Given the description of an element on the screen output the (x, y) to click on. 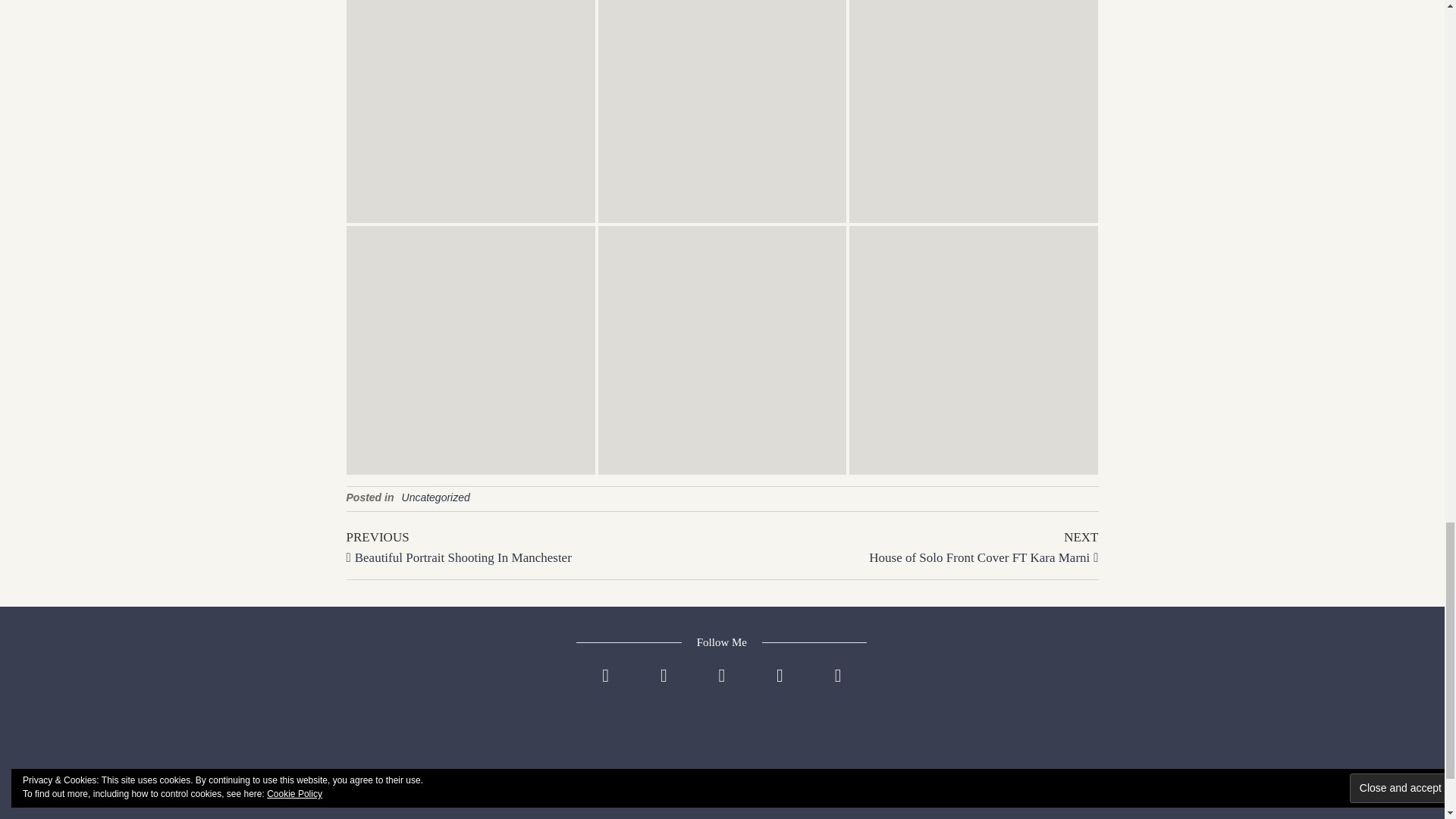
Youtube (838, 687)
Pinterest (780, 687)
Twitter (605, 687)
Uncategorized (435, 497)
Facebook (909, 546)
Instagram (663, 687)
